Given the description of an element on the screen output the (x, y) to click on. 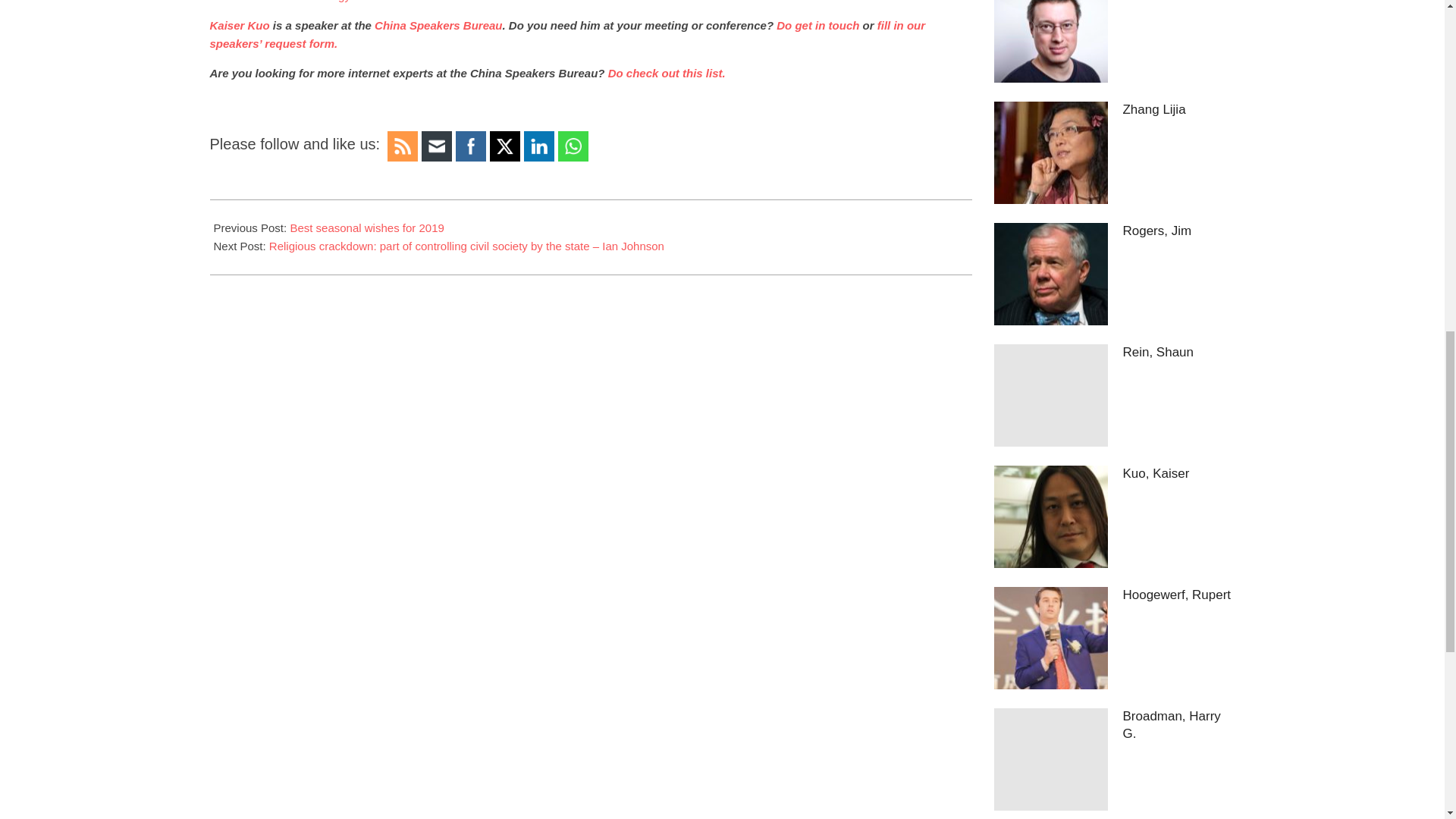
Facebook (471, 146)
Kaiser Kuo (239, 24)
China Speakers Bureau (436, 24)
LinkedIn (539, 146)
RSS (402, 146)
Do check out this list. (666, 72)
Follow by Email (436, 146)
Twitter (504, 146)
More at the MIT Technology Review. (301, 1)
Do get in touch (817, 24)
